Given the description of an element on the screen output the (x, y) to click on. 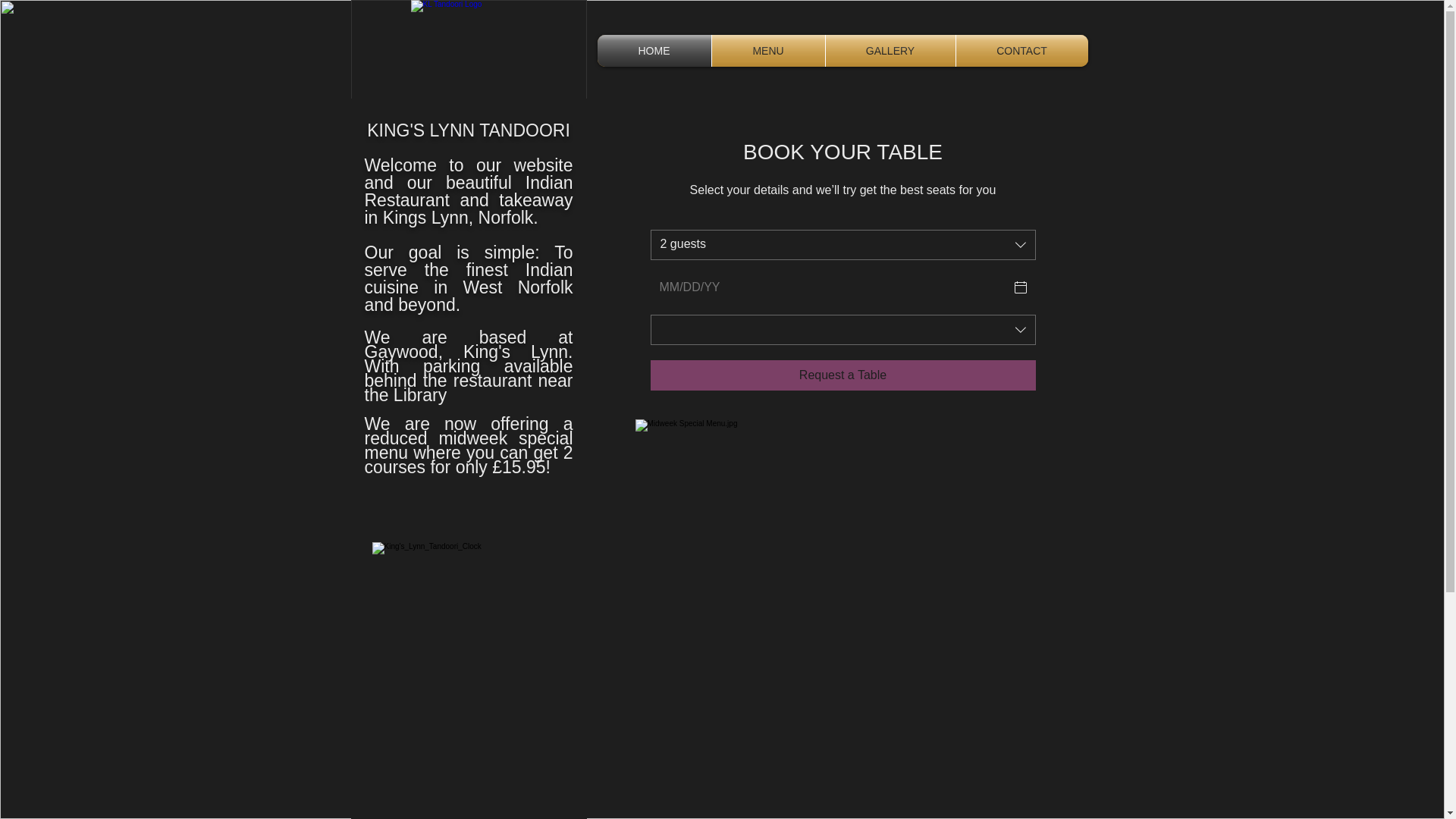
MENU (767, 50)
GALLERY (890, 50)
HOME (653, 50)
CONTACT (1021, 50)
2 guests (842, 245)
Request a Table (842, 375)
